Given the description of an element on the screen output the (x, y) to click on. 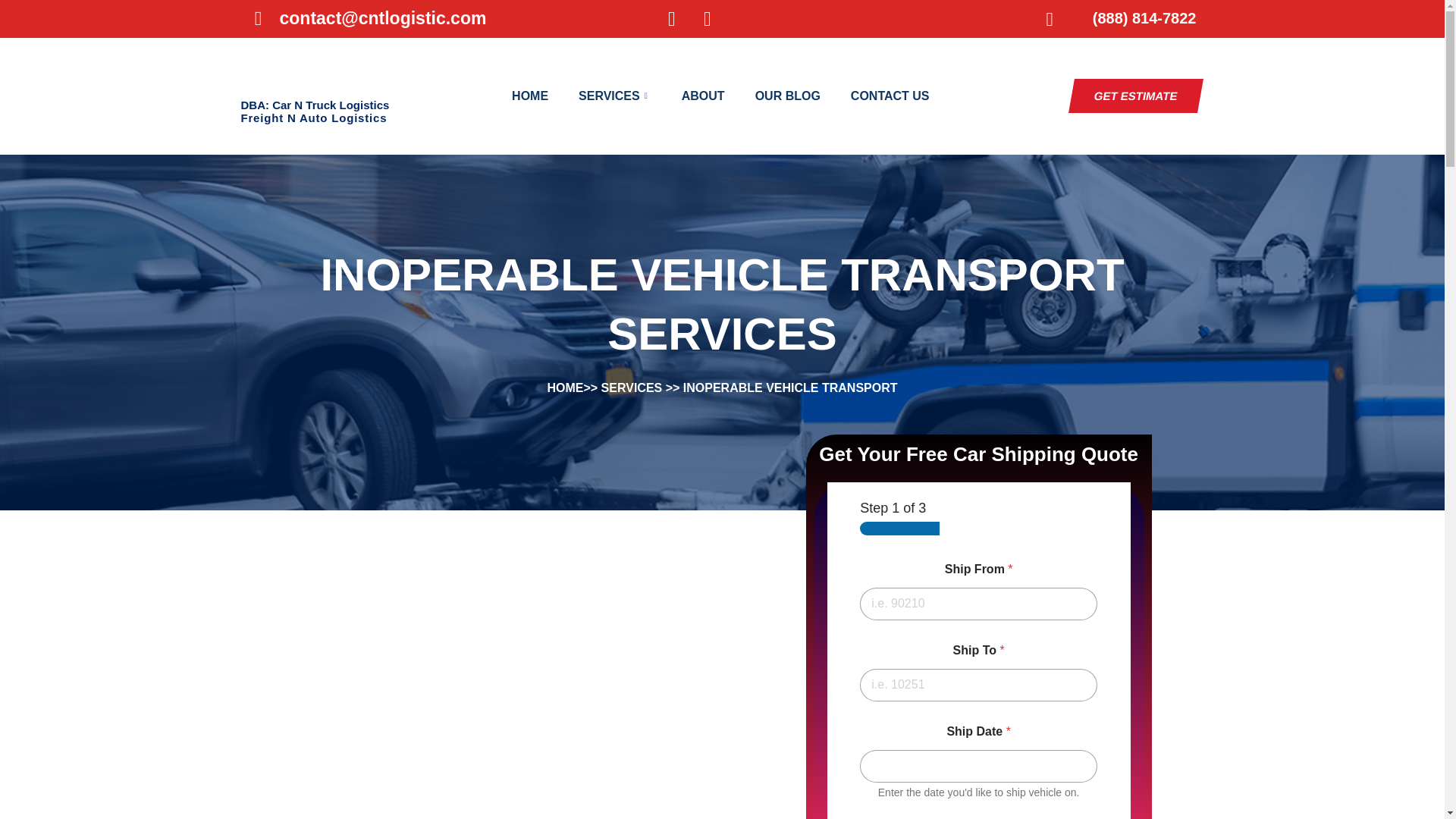
Icon-facebook (671, 19)
HOME (529, 95)
Linkedin (707, 19)
ABOUT (702, 95)
SERVICES (614, 95)
GET ESTIMATE (1132, 95)
CONTACT US (889, 95)
OUR BLOG (787, 95)
